Given the description of an element on the screen output the (x, y) to click on. 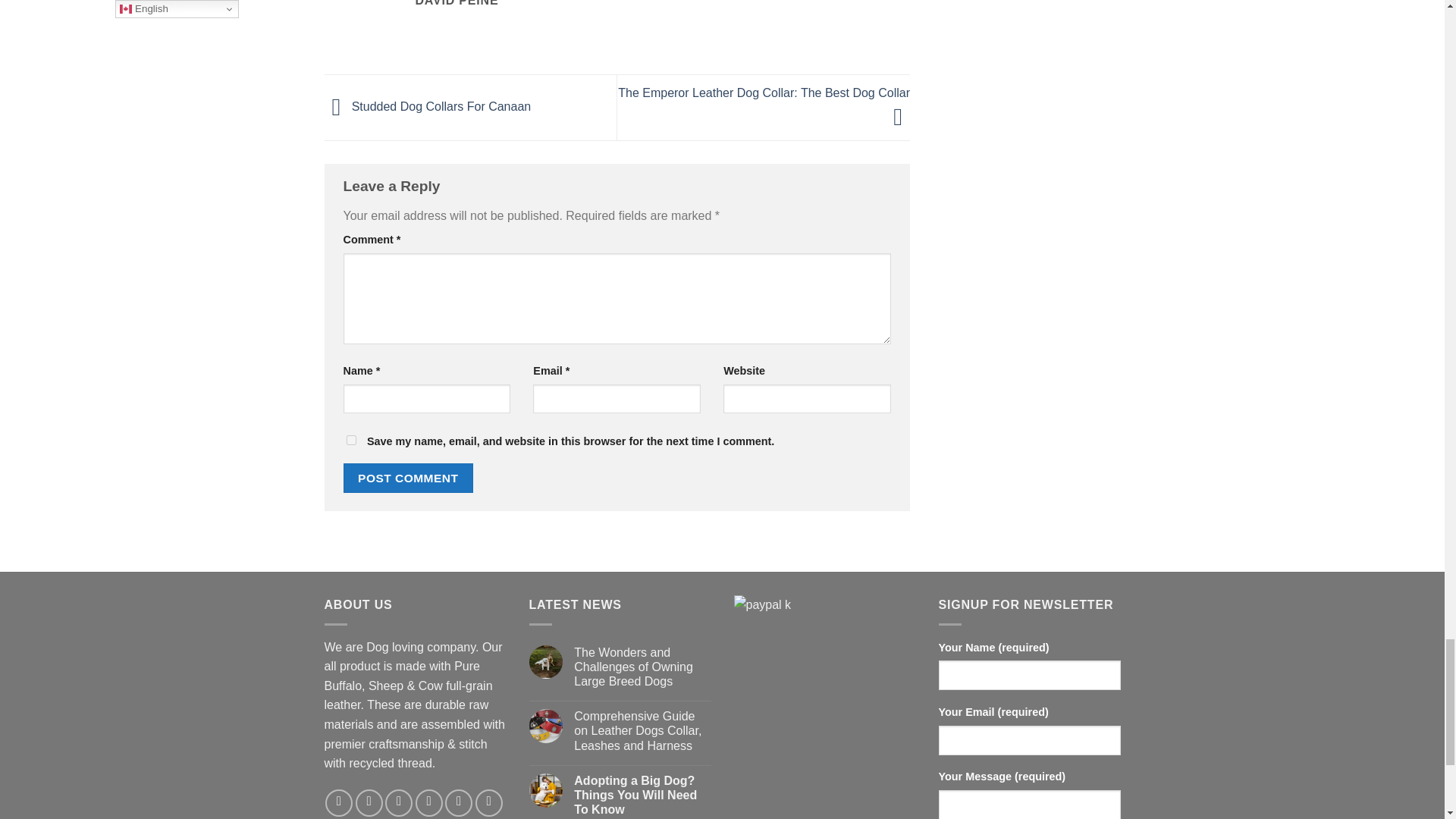
Post Comment (407, 478)
yes (350, 439)
